Given the description of an element on the screen output the (x, y) to click on. 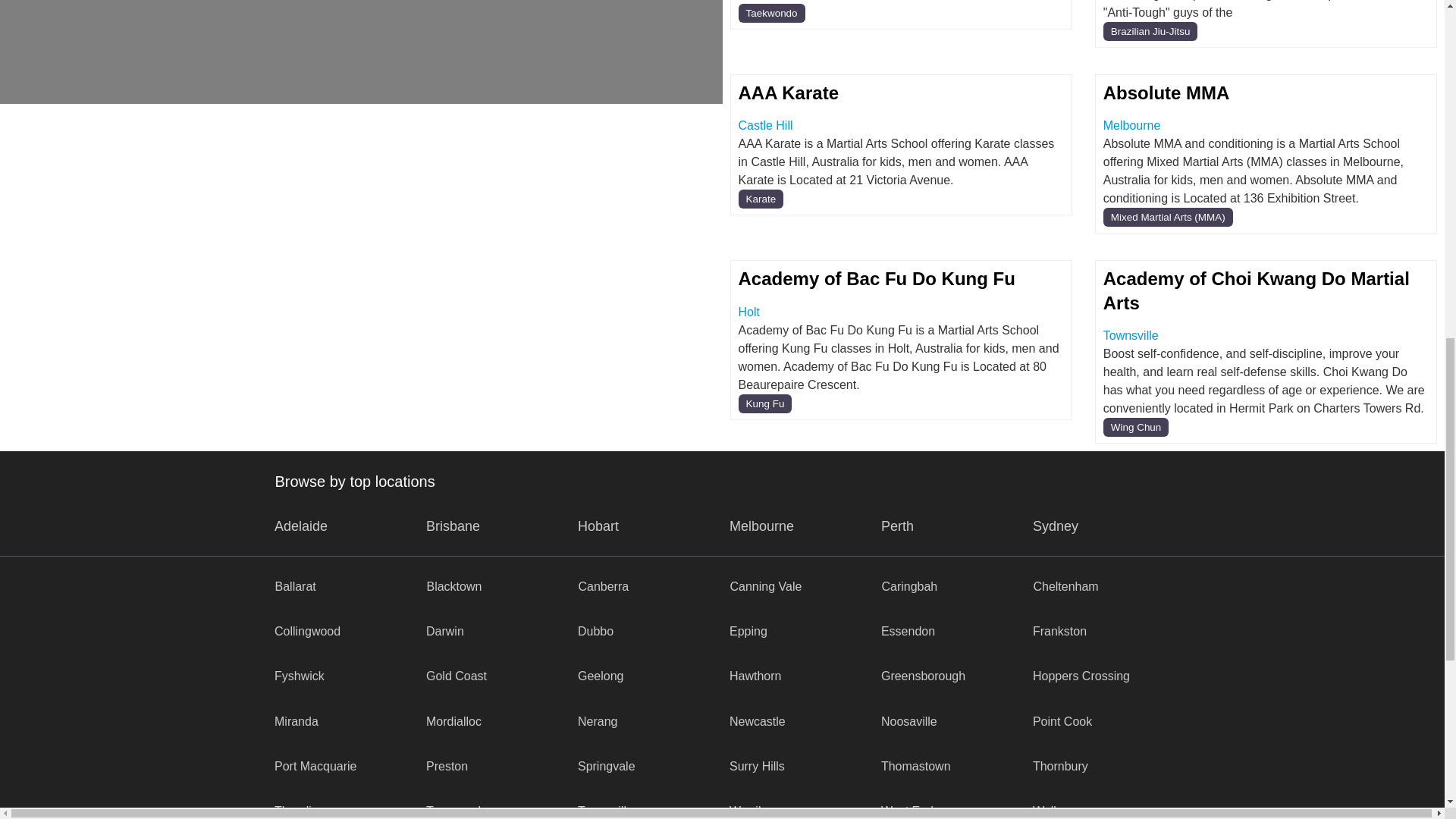
Dojos near Hobart (598, 525)
Dojos near Adelaide (301, 525)
Dojos near Cheltenham (1064, 585)
Taekwondo (771, 13)
Dojos near Brisbane (453, 525)
Dojos near Caringbah (908, 585)
Dojos near Canning (603, 585)
Brazilian Jiu-Jitsu (1150, 31)
Dojos near Sydney (1055, 525)
Dojos near Blacktown (453, 585)
Dojos near Canning Vale (765, 585)
Dojos near Perth (897, 525)
Dojos near Ballarat (295, 585)
Dojos near Adelaide (445, 631)
Dojos near Collingwood (307, 631)
